Given the description of an element on the screen output the (x, y) to click on. 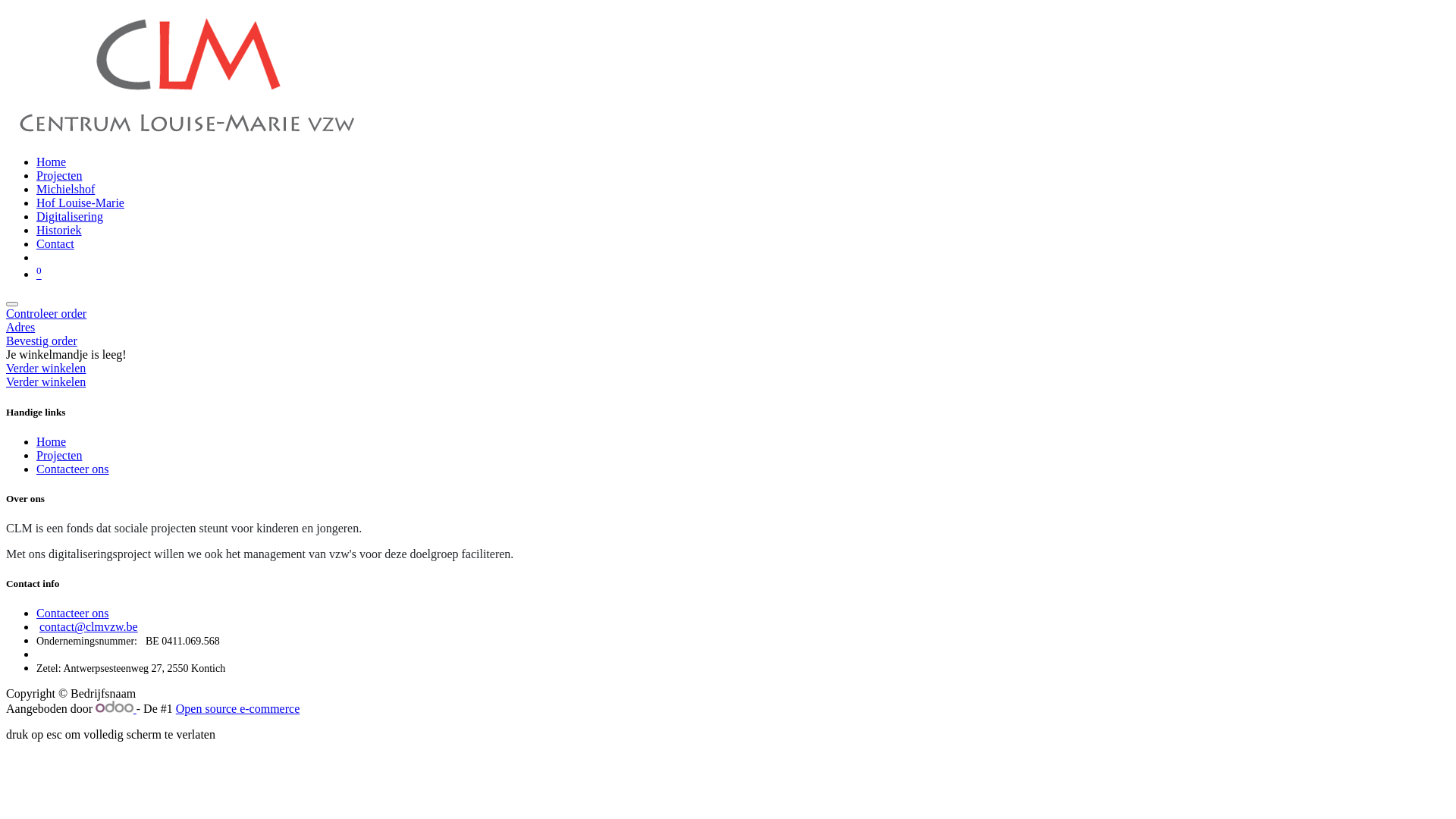
Verder winkelen Element type: text (45, 367)
Hof Louise-Marie Element type: text (80, 202)
Home Element type: text (50, 441)
Home Element type: text (50, 161)
Centrum Louise-Marie vzw Element type: hover (184, 135)
Projecten Element type: text (58, 454)
Projecten Element type: text (58, 175)
Contacteer ons Element type: text (72, 468)
Historiek Element type: text (58, 229)
Digitalisering Element type: text (69, 216)
Michielshof Element type: text (65, 188)
Bevestig order Element type: text (727, 341)
Contacteer ons Element type: text (72, 612)
0 Element type: text (38, 273)
Adres Element type: text (727, 327)
Controleer order Element type: text (727, 313)
Contact Element type: text (55, 243)
Verder winkelen Element type: text (45, 381)
Open source e-commerce Element type: text (237, 708)
contact@clmvzw.be Element type: text (88, 626)
